Given the description of an element on the screen output the (x, y) to click on. 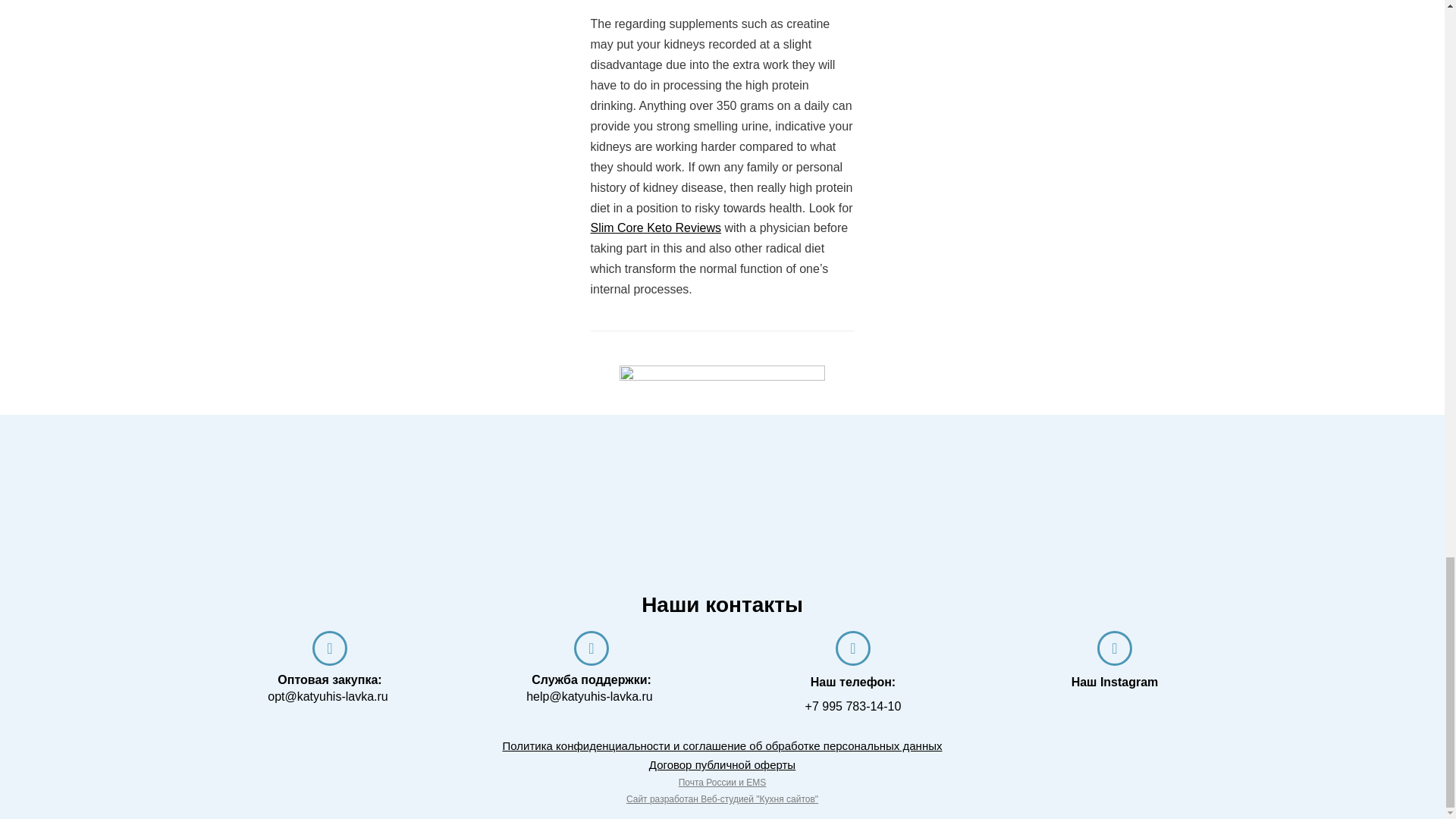
Slim Core Keto Reviews (654, 227)
